Given the description of an element on the screen output the (x, y) to click on. 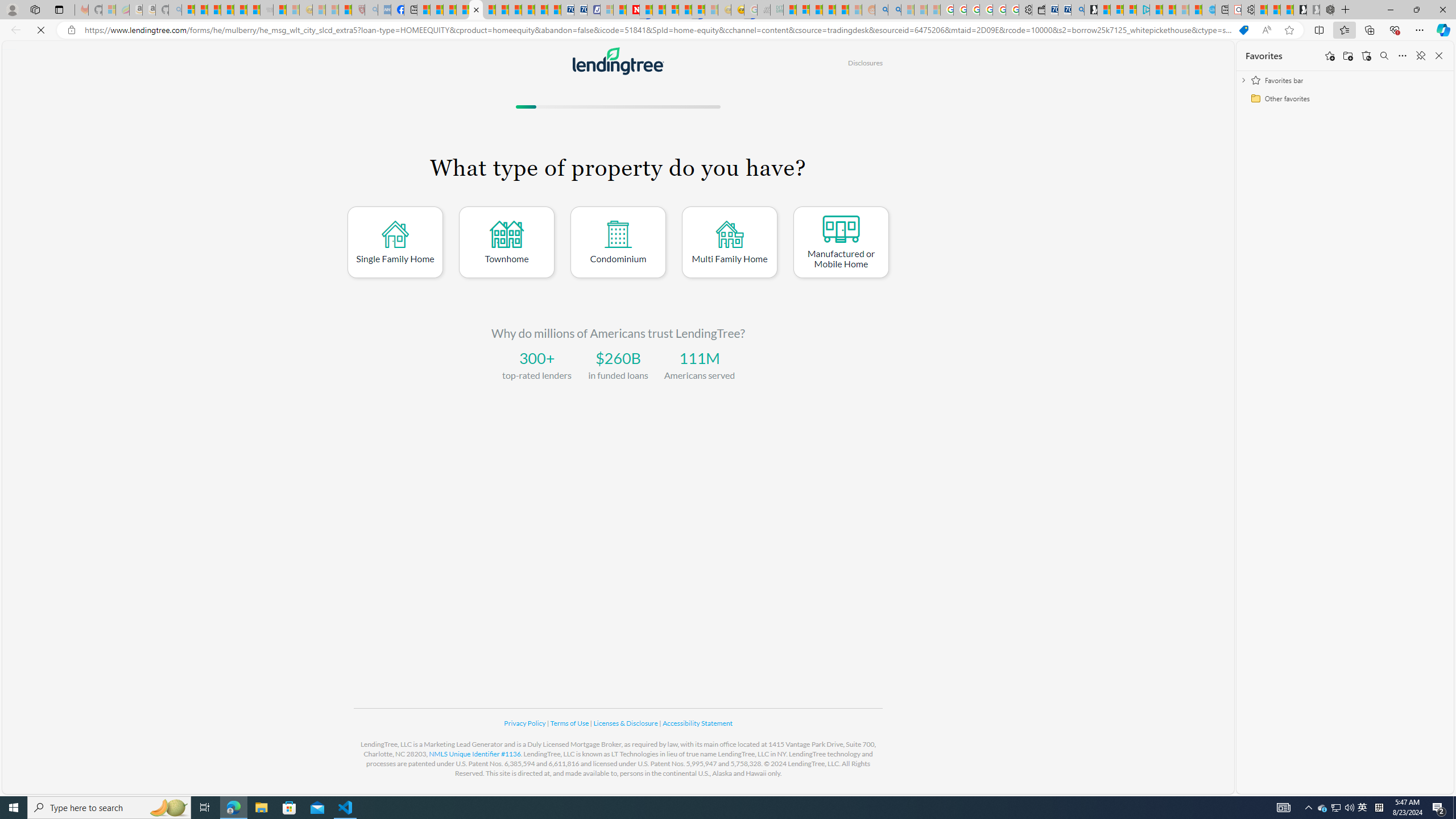
Combat Siege - Sleeping (266, 9)
Cheap Hotels - Save70.com (580, 9)
Restore deleted favorites (1366, 55)
DITOGAMES AG Imprint - Sleeping (776, 9)
Search favorites (1383, 55)
14 Common Myths Debunked By Scientific Facts (659, 9)
Microsoft-Report a Concern to Bing - Sleeping (108, 9)
